Given the description of an element on the screen output the (x, y) to click on. 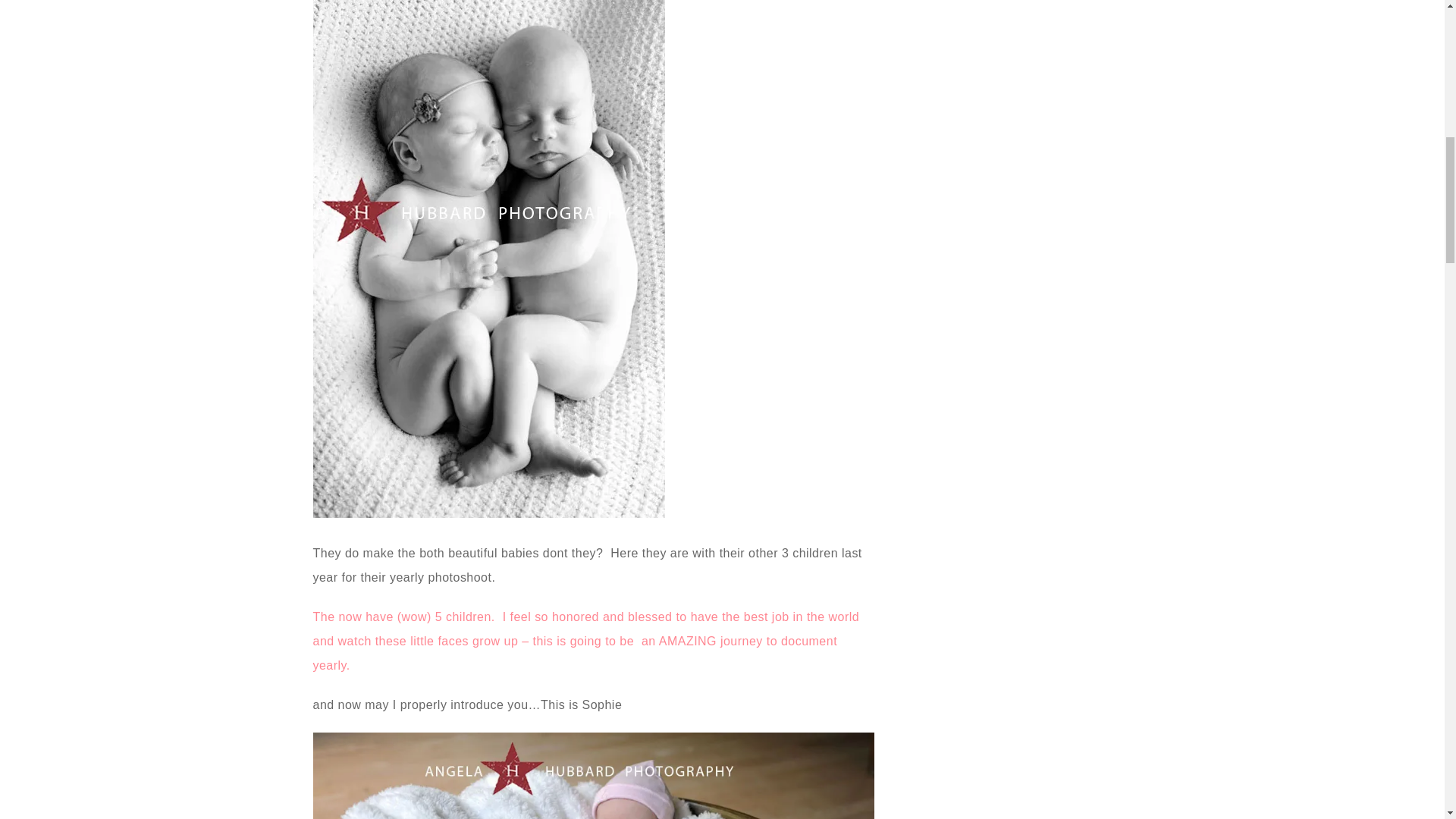
Vancouver newborn photographer Angela Hubbard Photography (593, 775)
